Given the description of an element on the screen output the (x, y) to click on. 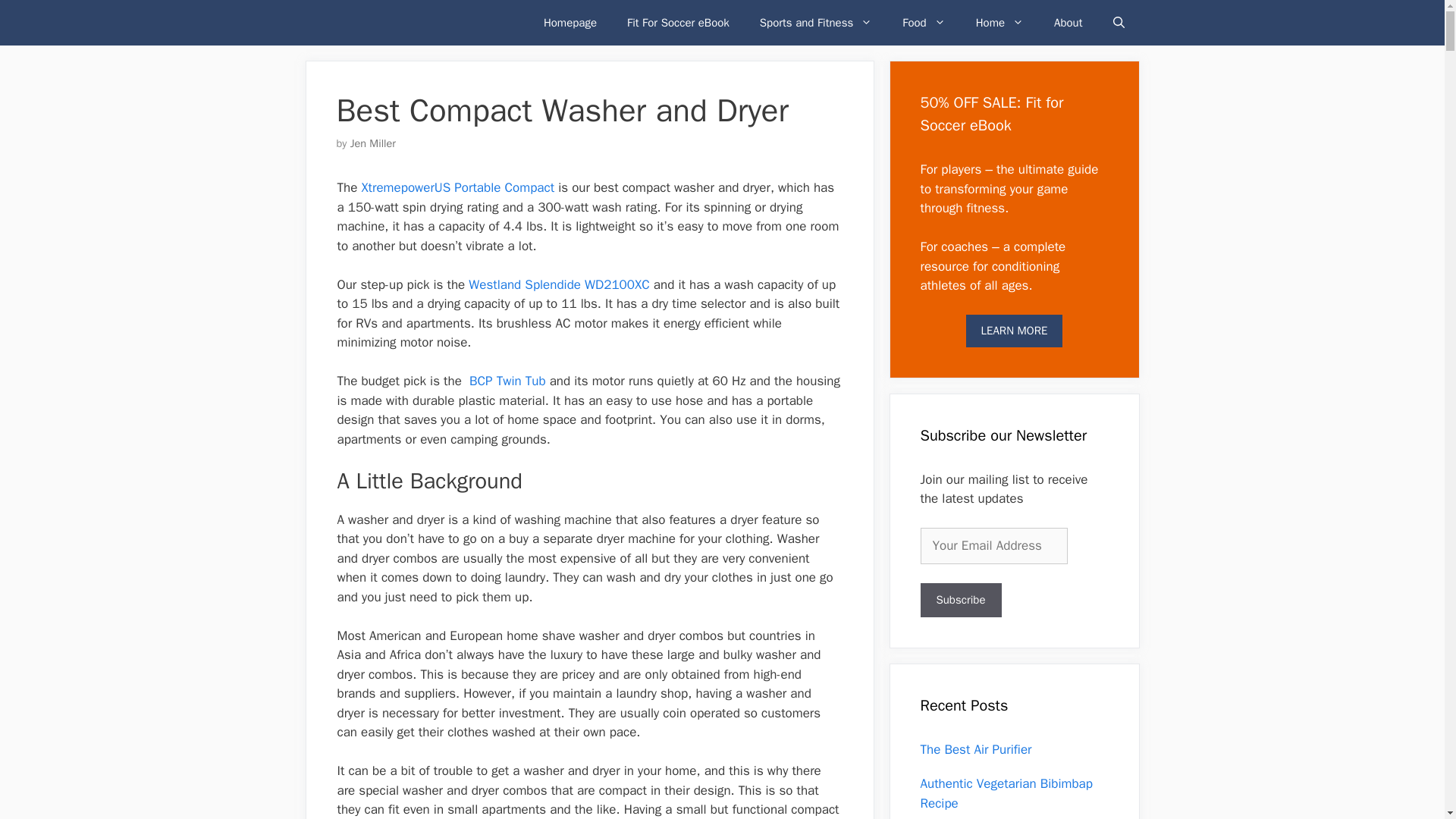
Homepage (569, 22)
Jen Miller (373, 142)
Fit For Soccer eBook (677, 22)
XtremepowerUS Portable Compact (457, 187)
Westland Splendide WD2100XC (558, 284)
View all posts by Jen Miller (373, 142)
Home (999, 22)
Food (922, 22)
Subscribe (960, 600)
BCP Twin Tub (507, 381)
About (1068, 22)
Sports and Fitness (815, 22)
